Given the description of an element on the screen output the (x, y) to click on. 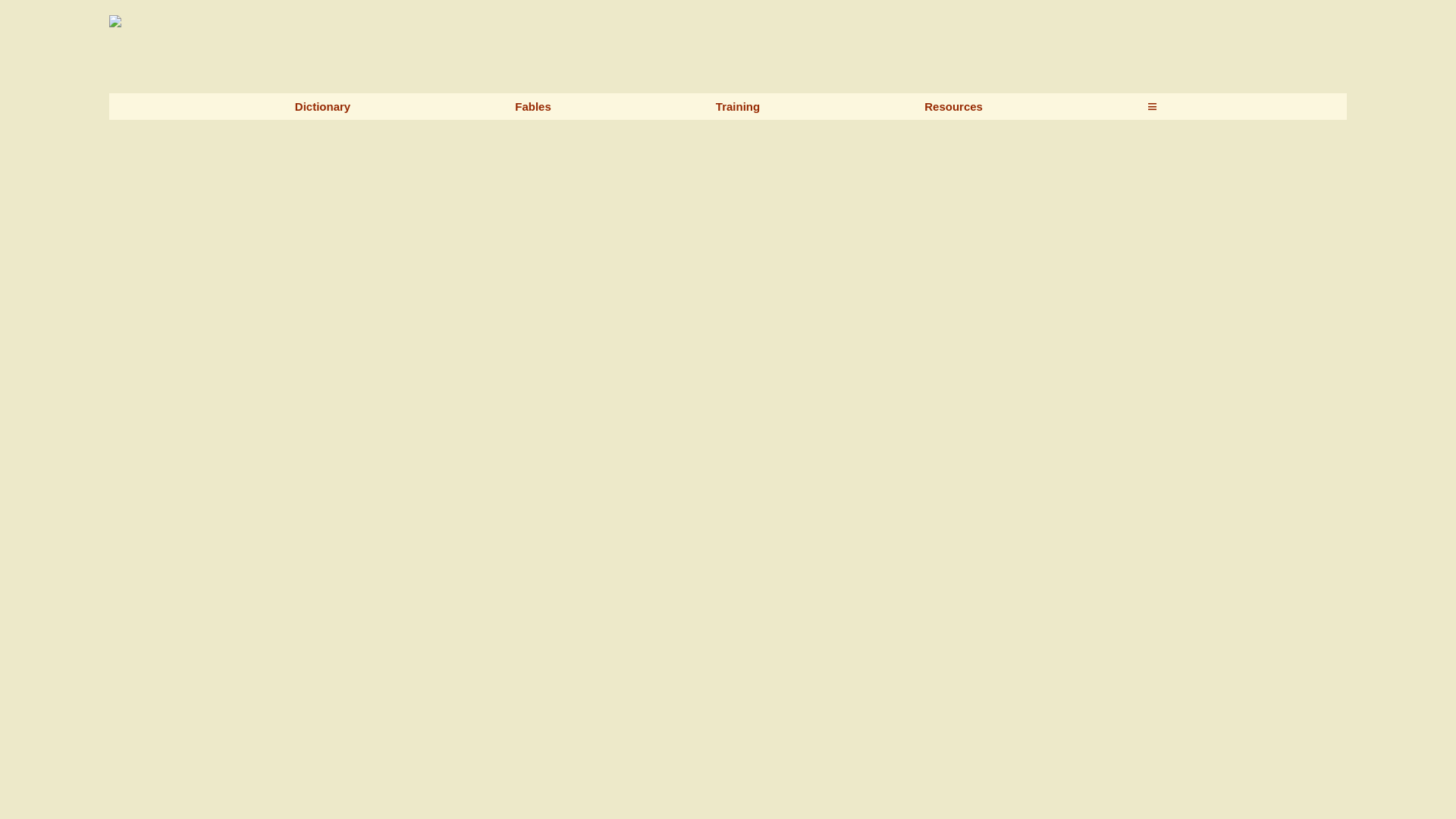
Dictionary Element type: text (322, 106)
Training Element type: text (737, 106)
Resources Element type: text (953, 106)
Fables Element type: text (532, 106)
